Given the description of an element on the screen output the (x, y) to click on. 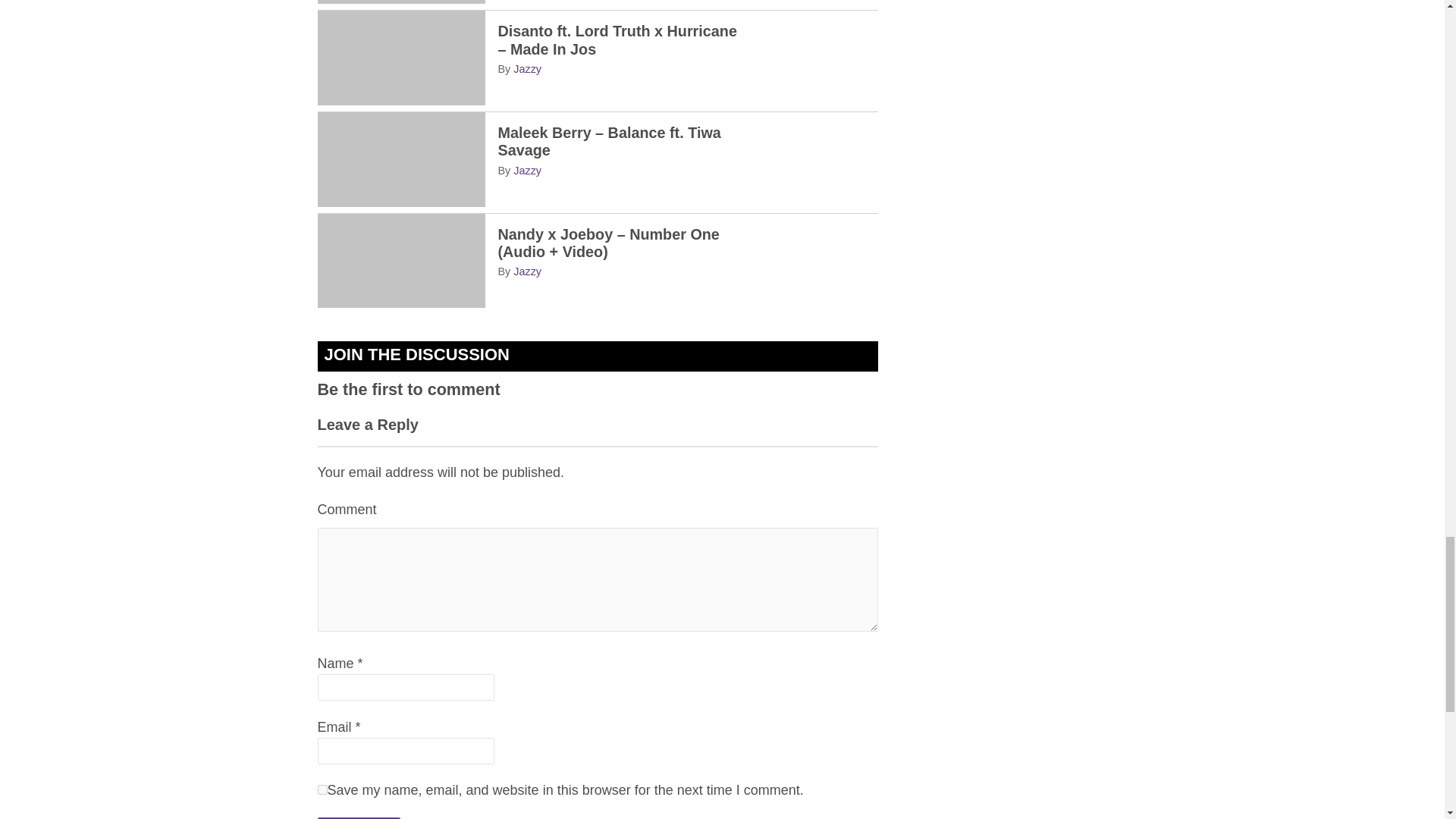
Post Comment (357, 818)
Posts by Jazzy (527, 170)
Posts by Jazzy (527, 69)
Posts by Jazzy (527, 271)
yes (321, 789)
